Given the description of an element on the screen output the (x, y) to click on. 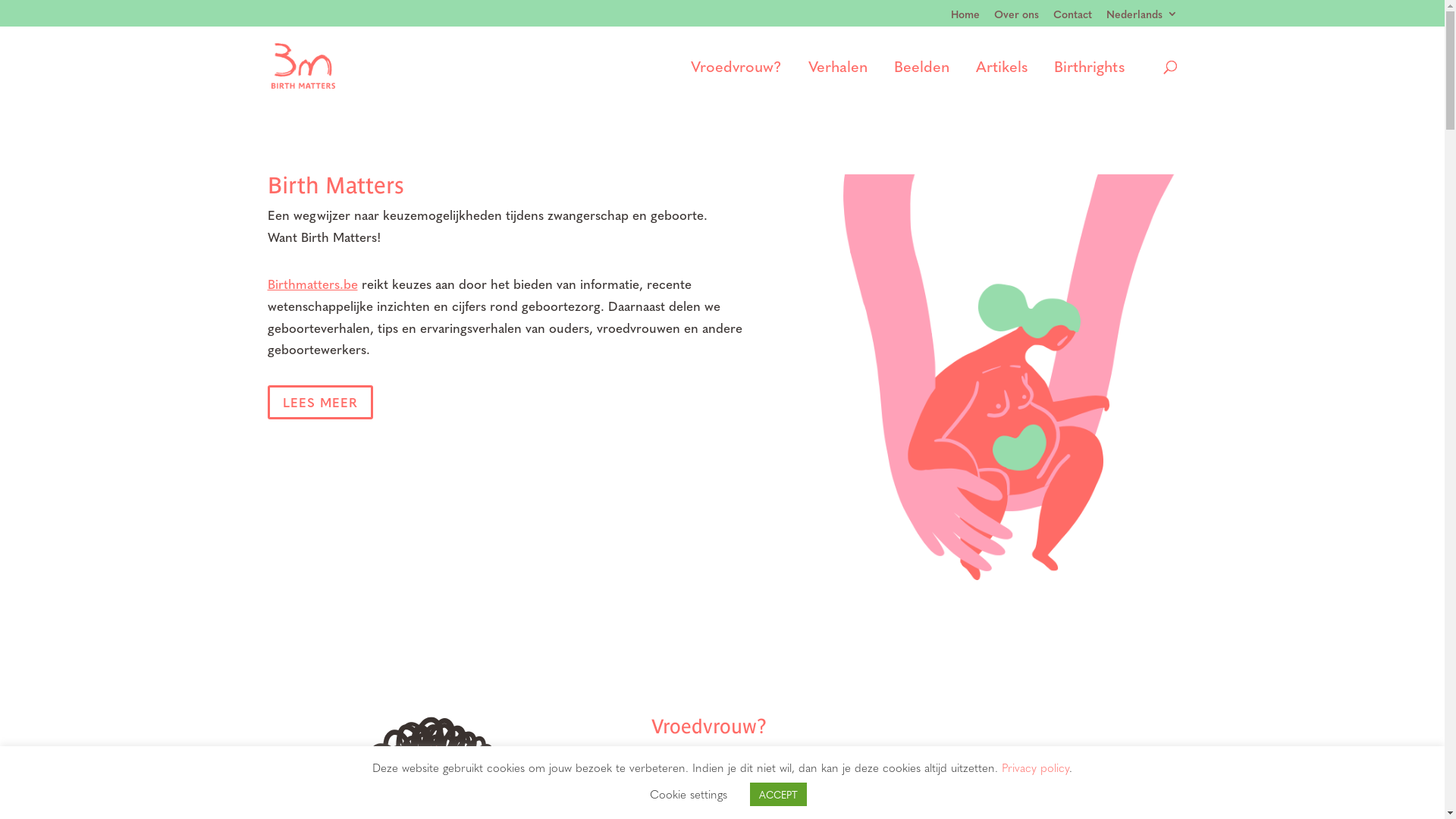
Privacy policy Element type: text (1035, 767)
Birthmatters.be Element type: text (311, 282)
Birth Matters Element type: hover (1009, 376)
Artikels Element type: text (1000, 82)
vroed-vrouw-geleide geboortezorg Element type: text (1028, 788)
Over ons Element type: text (1015, 16)
Beelden Element type: text (920, 82)
Nederlands Element type: text (1140, 16)
Vroedvrouw? Element type: text (735, 82)
Verhalen Element type: text (837, 82)
ACCEPT Element type: text (777, 794)
LEES MEER Element type: text (319, 402)
Cookie settings Element type: text (687, 793)
Birthrights Element type: text (1089, 82)
Contact Element type: text (1071, 16)
Home Element type: text (964, 16)
